Given the description of an element on the screen output the (x, y) to click on. 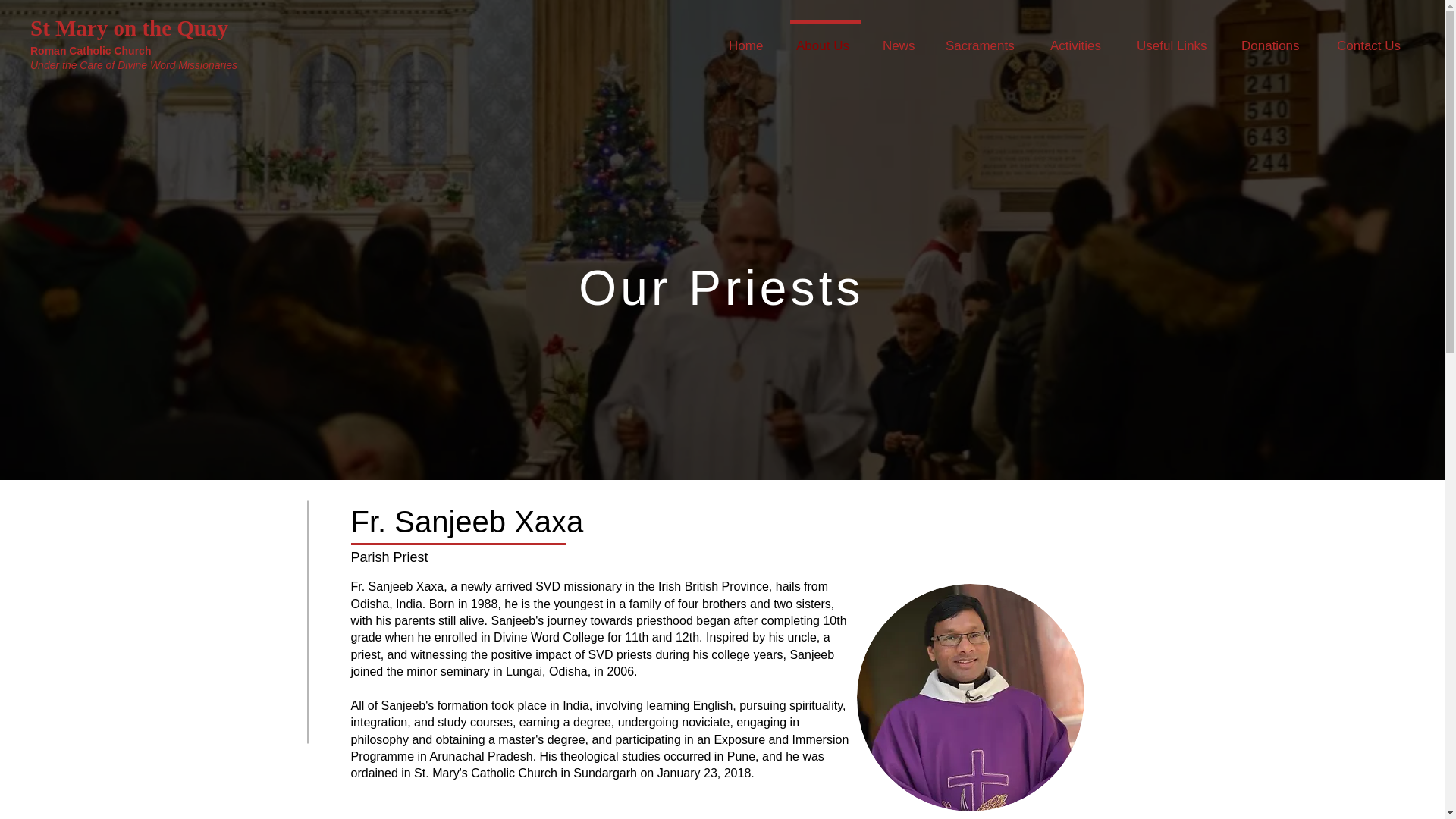
Activities (1079, 39)
Priest Celebrating Mass (970, 697)
Donations (1275, 39)
About Us (826, 39)
News (900, 39)
Contact Us (1372, 39)
St Mary on the Quay (129, 27)
Home (748, 39)
Sacraments (983, 39)
Useful Links (1174, 39)
